Given the description of an element on the screen output the (x, y) to click on. 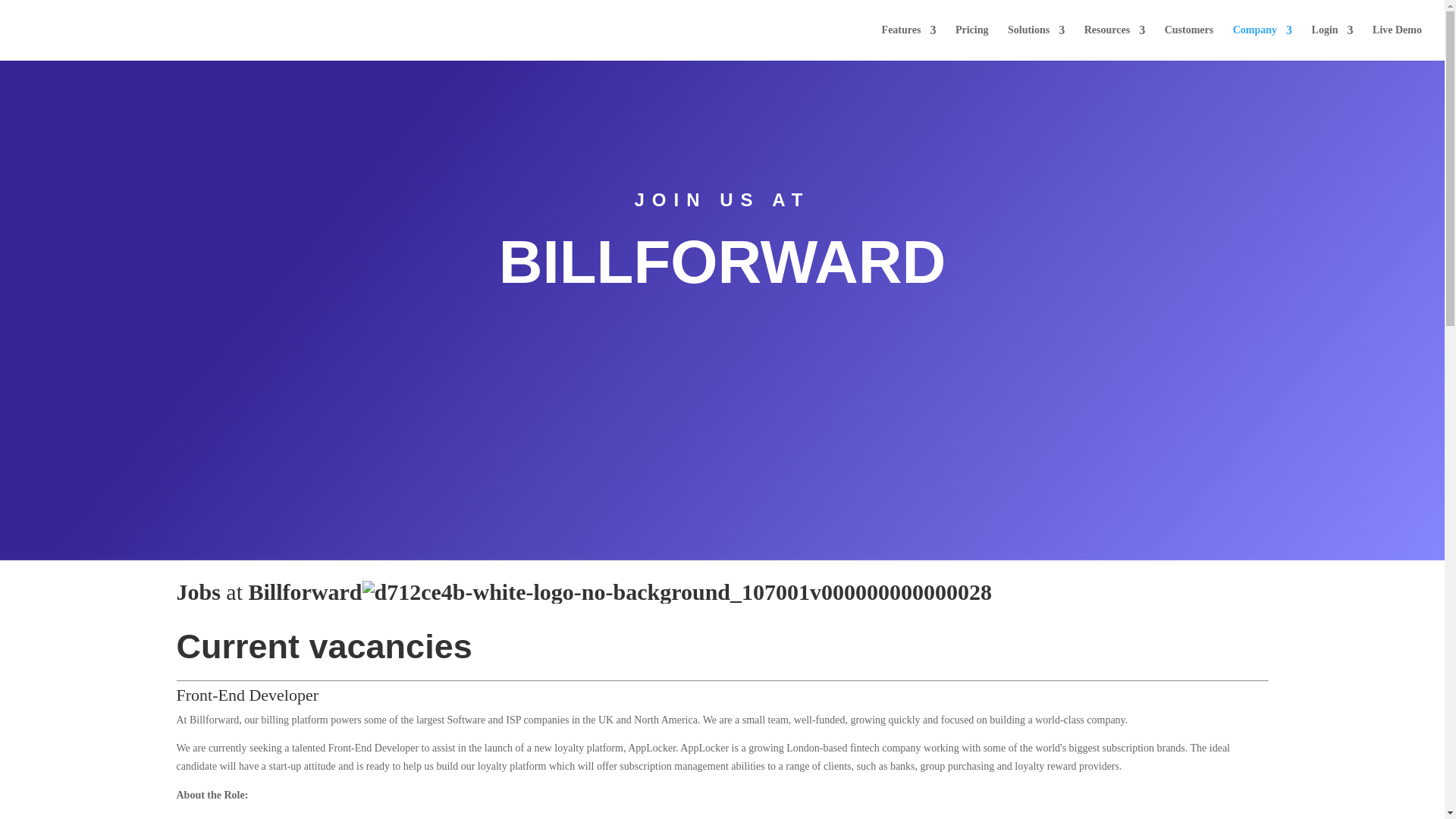
Live Demo (1397, 42)
Customers (1189, 42)
Company (1262, 42)
Solutions (1035, 42)
Resources (1114, 42)
Features (909, 42)
Pricing (971, 42)
Login (1332, 42)
